Given the description of an element on the screen output the (x, y) to click on. 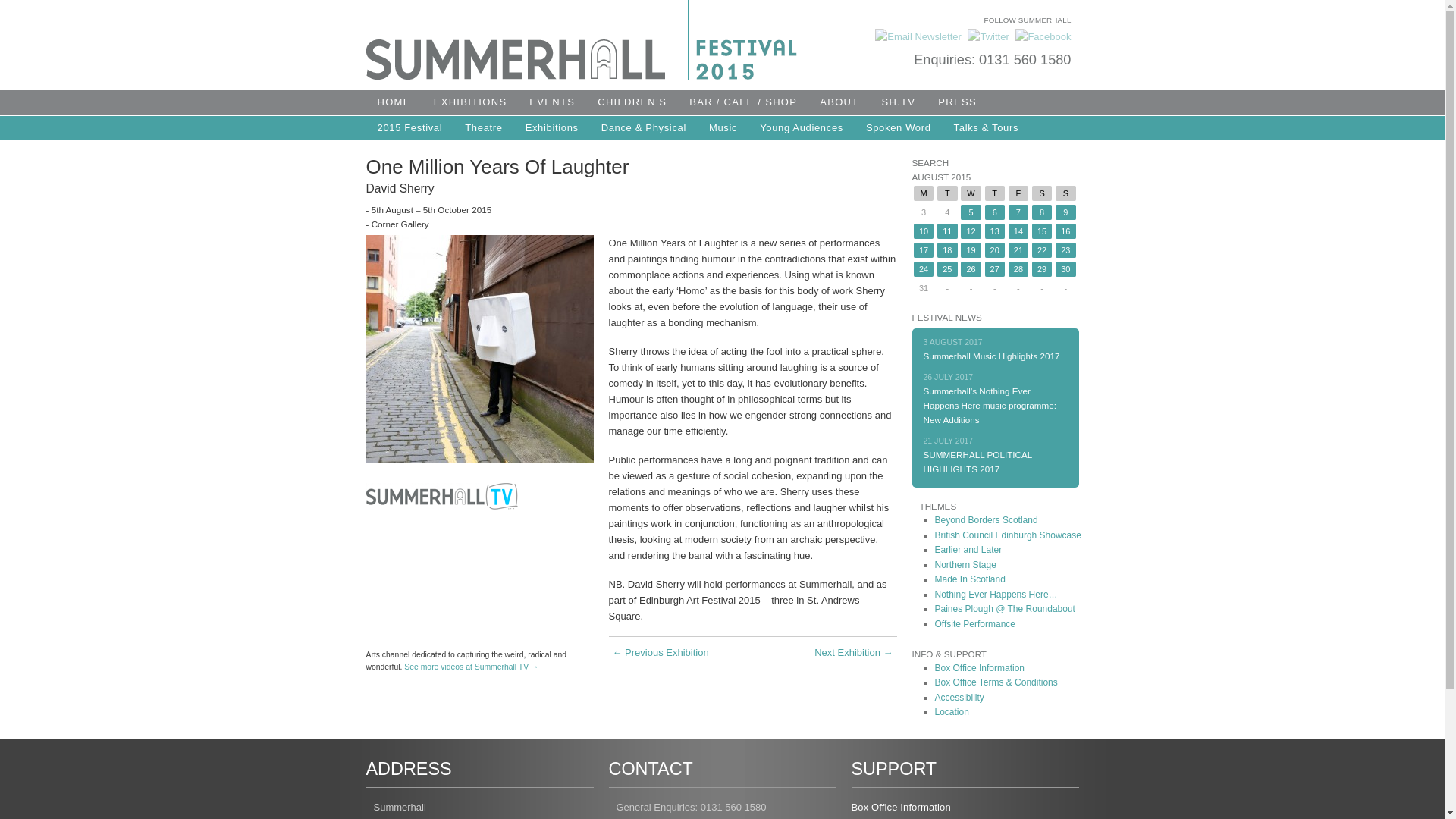
EVENTS (552, 102)
Young Audiences (801, 127)
Theatre (482, 127)
Spoken Word (898, 127)
Summerhall (514, 75)
3 August 2017  (991, 356)
Three Go Adventuring Again (852, 656)
Skip to content (428, 102)
Facebook (1042, 36)
2015 Festival (408, 127)
